Given the description of an element on the screen output the (x, y) to click on. 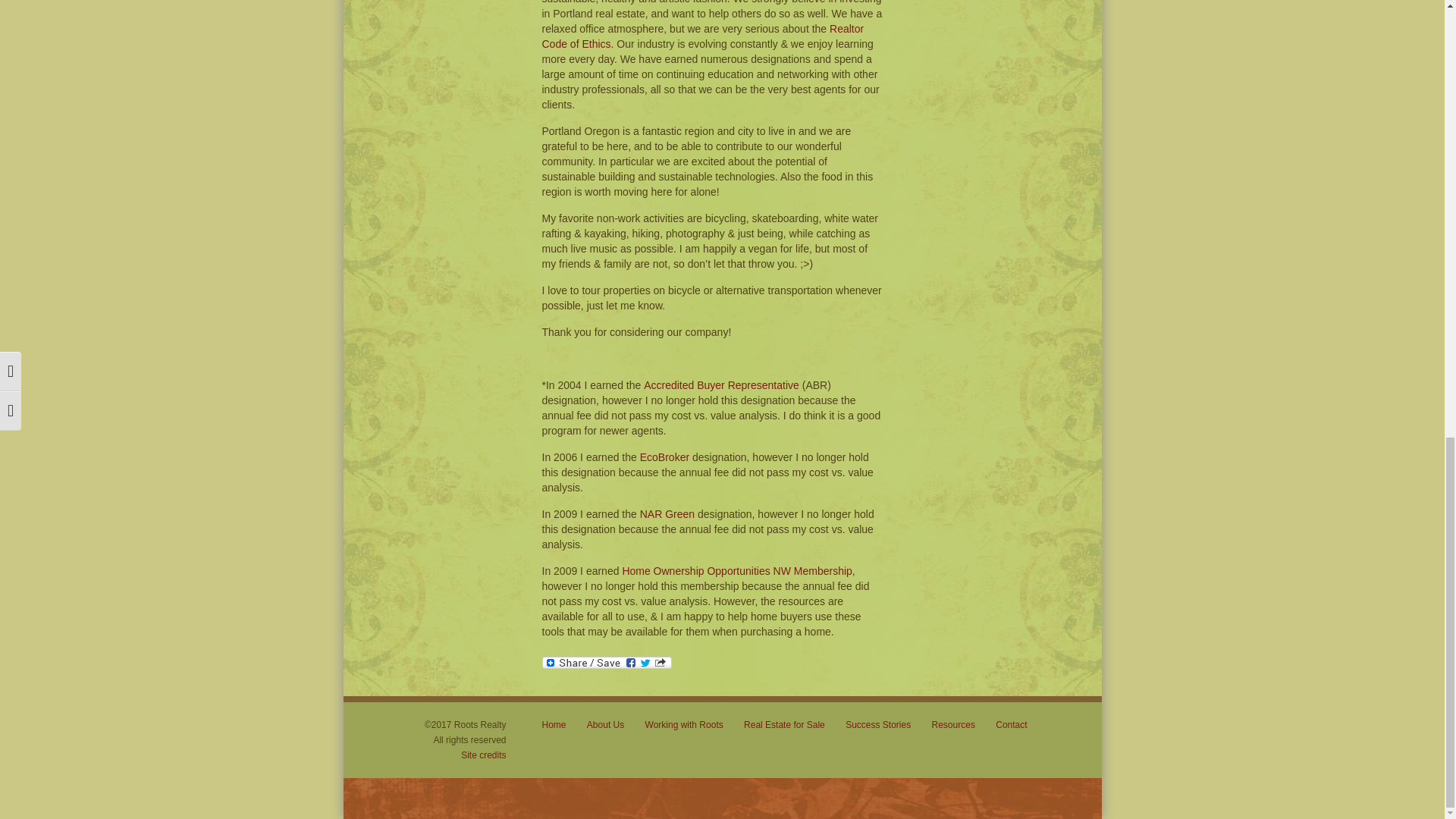
Accredited Buyer Representative (721, 385)
EcoBroker (664, 457)
Realtor Code of Ethics. (702, 35)
